Given the description of an element on the screen output the (x, y) to click on. 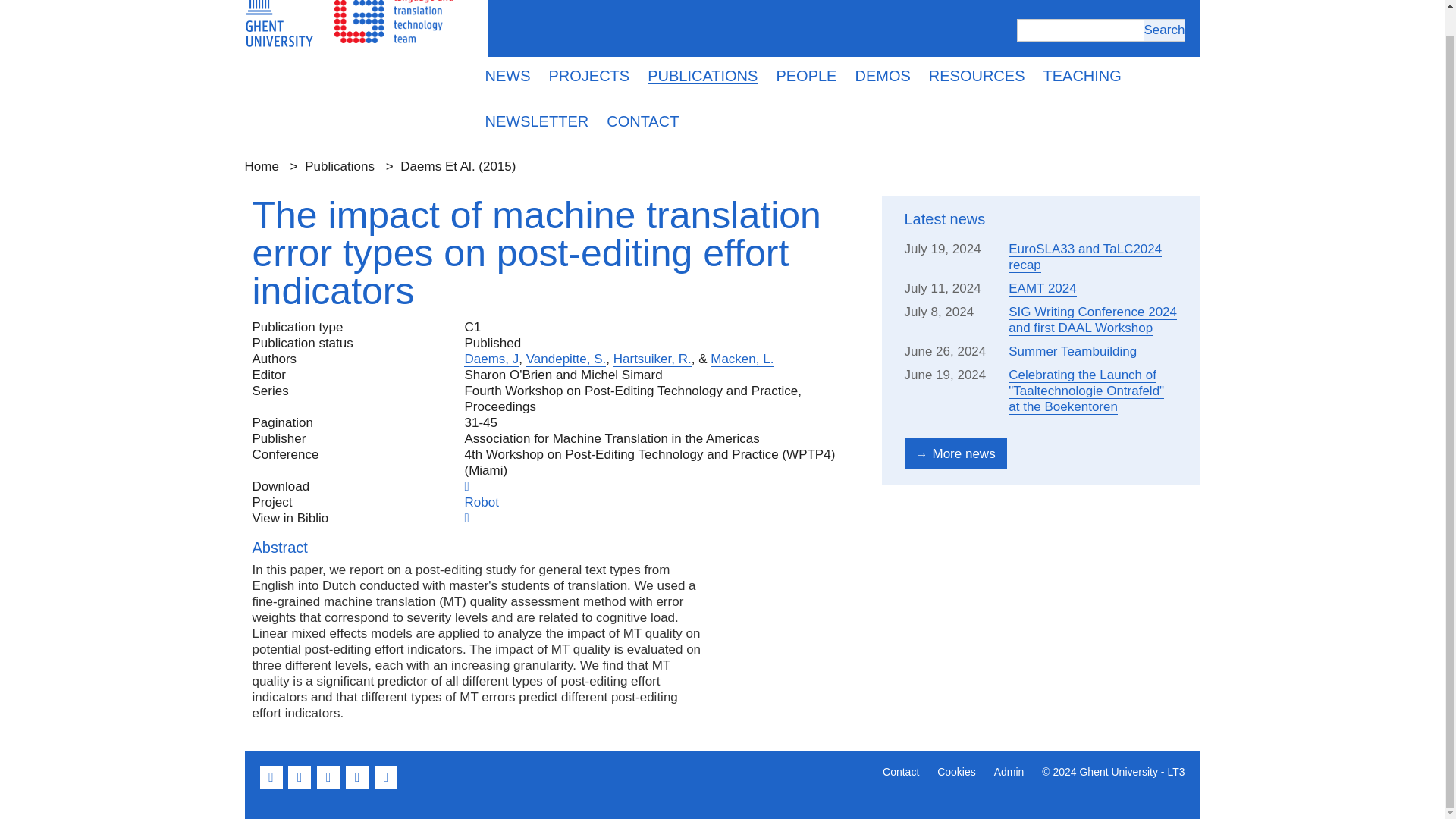
Vandepitte, S. (566, 359)
Hartsuiker, R. (651, 359)
Robot (480, 502)
EuroSLA33 and TaLC2024 recap (1085, 256)
Daems, J (491, 359)
Search (1162, 29)
PROJECTS (589, 76)
TEACHING (1082, 76)
PEOPLE (806, 76)
DEMOS (881, 76)
